Given the description of an element on the screen output the (x, y) to click on. 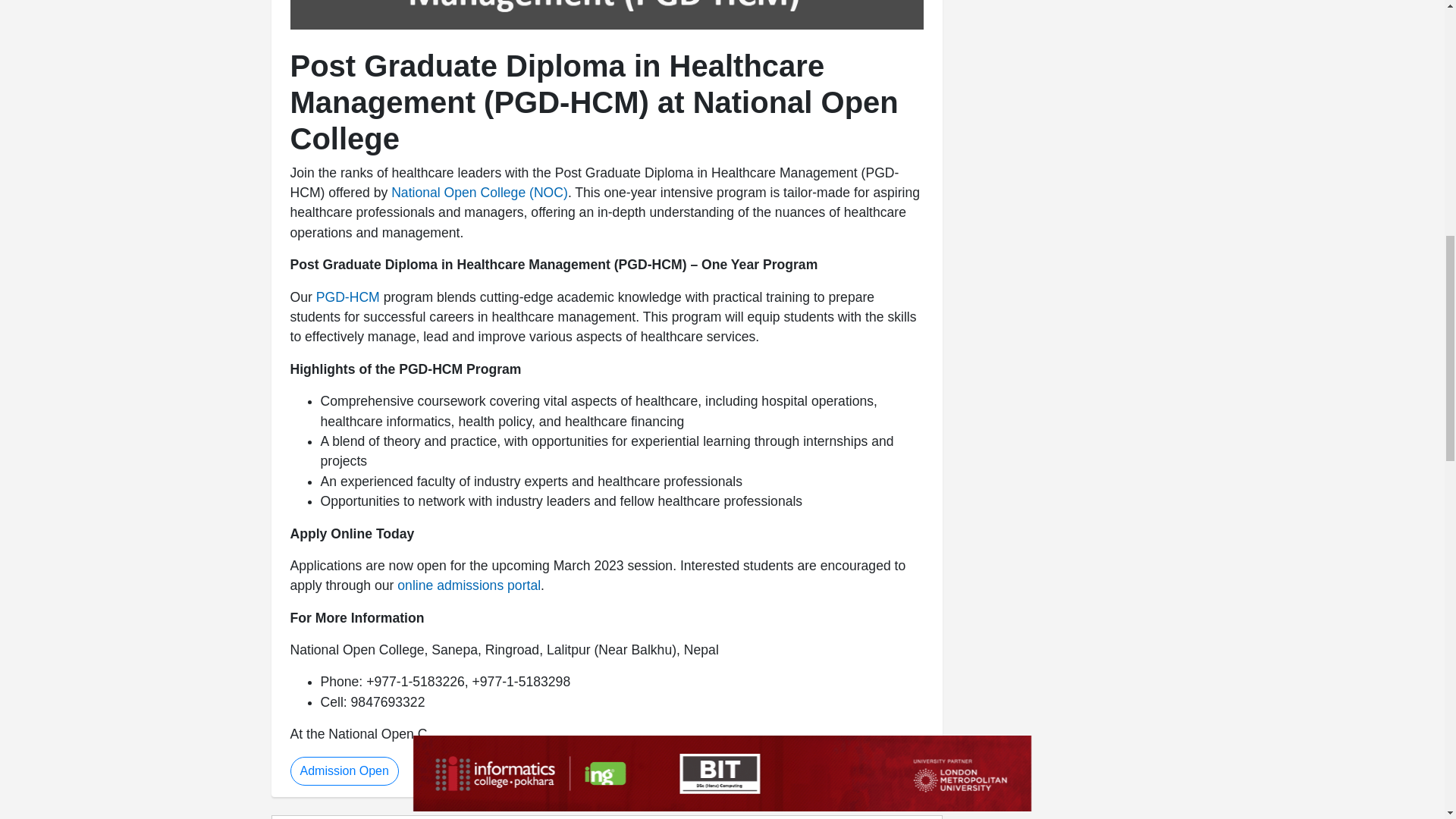
PGD-HCM (347, 296)
PGD-HCM at National Open College (606, 14)
online admissions portal (468, 585)
Admission Open (343, 770)
